Given the description of an element on the screen output the (x, y) to click on. 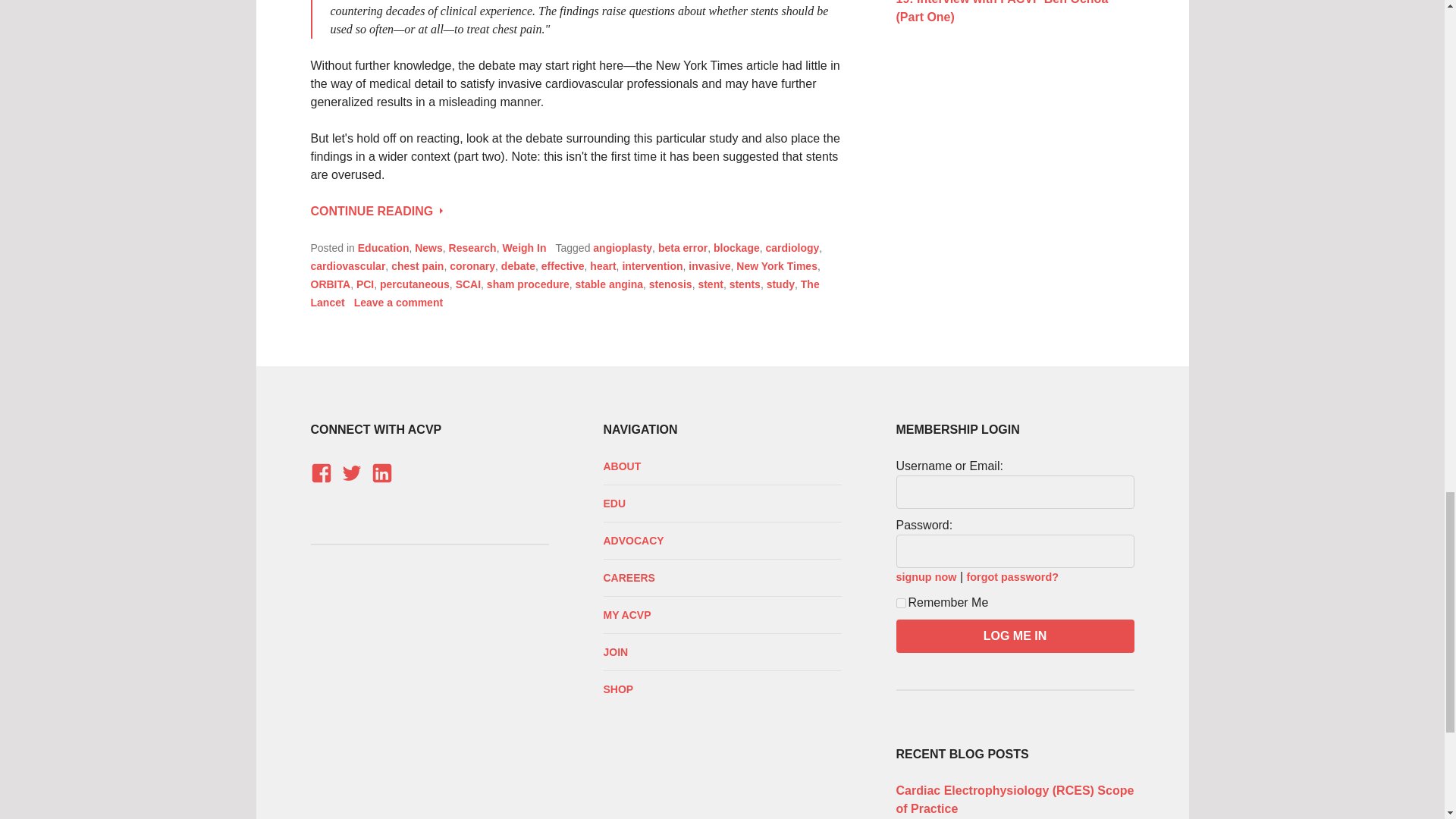
Password (1015, 551)
forever (900, 603)
Log Me In (1015, 635)
Username (1015, 491)
